Given the description of an element on the screen output the (x, y) to click on. 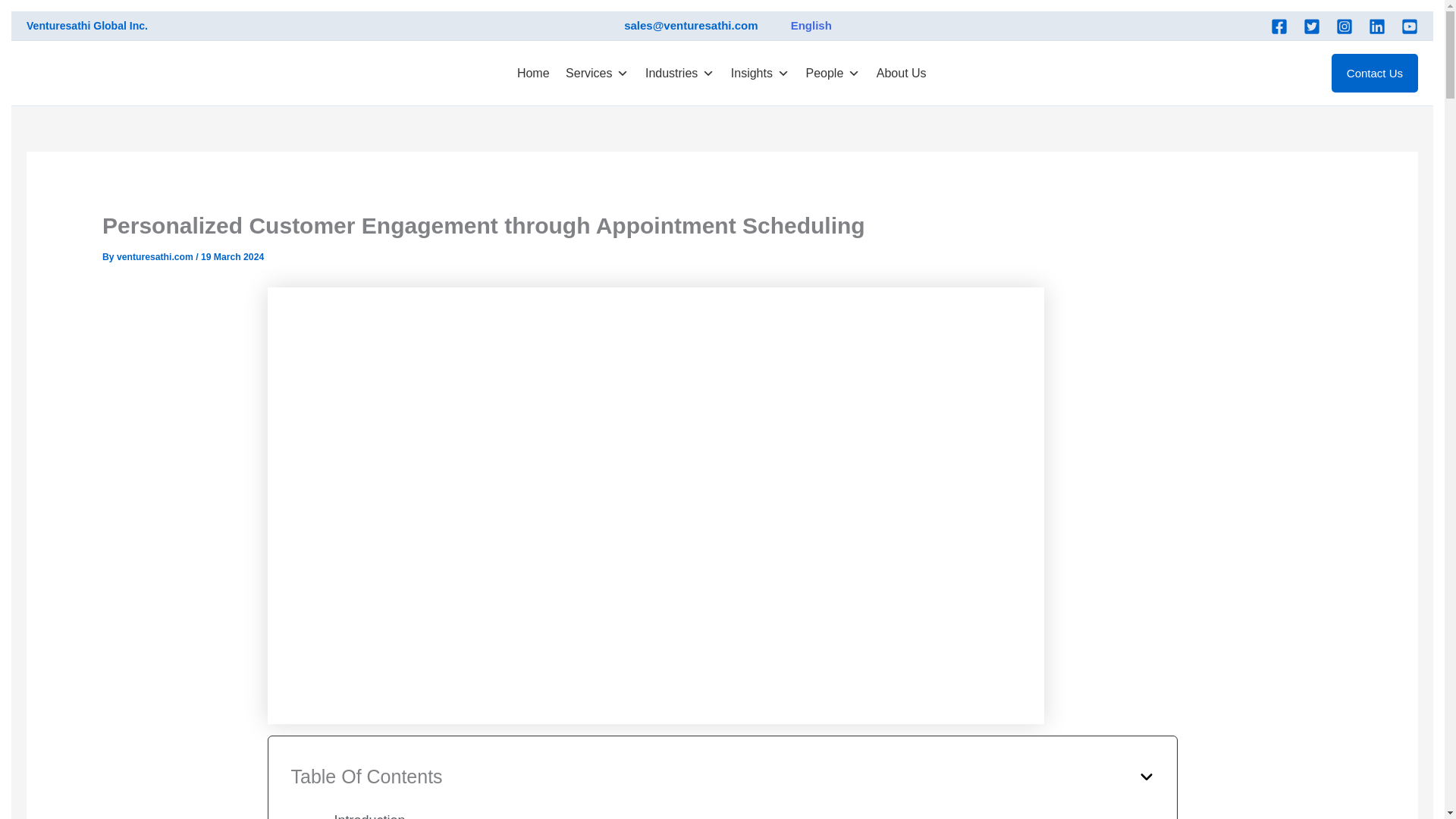
Services (596, 72)
Home (533, 72)
English (800, 25)
View all posts by venturesathi.com (155, 256)
Industries (679, 72)
Insights (759, 72)
